Given the description of an element on the screen output the (x, y) to click on. 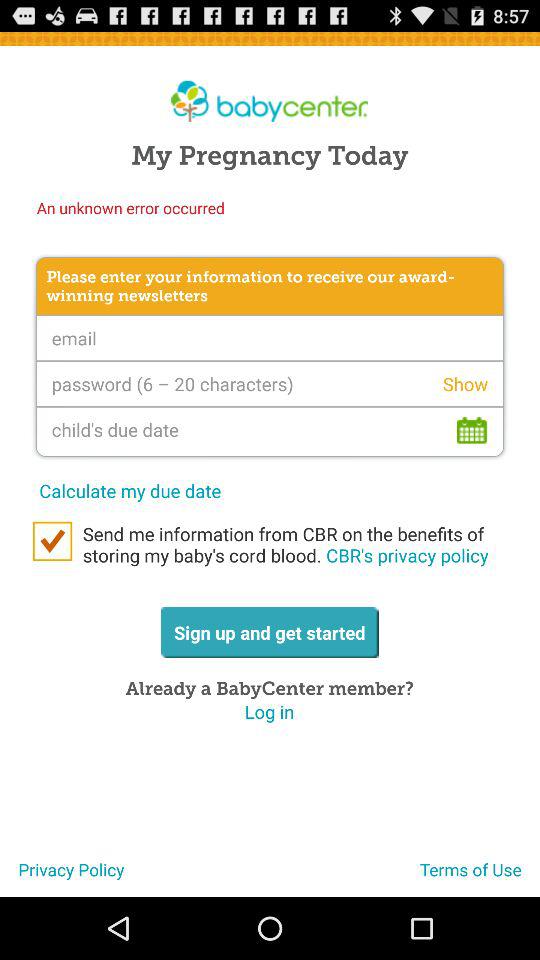
enter the e-mail address (270, 338)
